Given the description of an element on the screen output the (x, y) to click on. 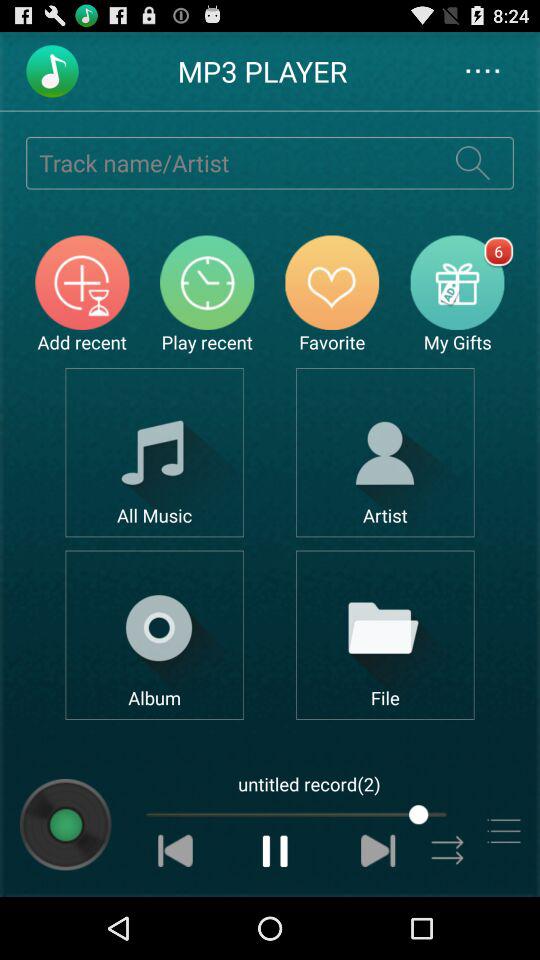
open a file (384, 634)
